Given the description of an element on the screen output the (x, y) to click on. 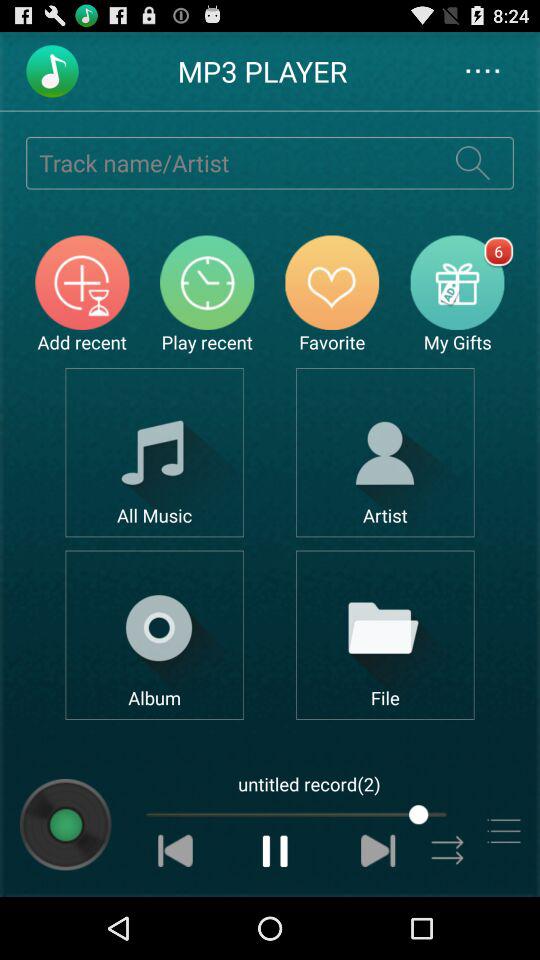
open a file (384, 634)
